Given the description of an element on the screen output the (x, y) to click on. 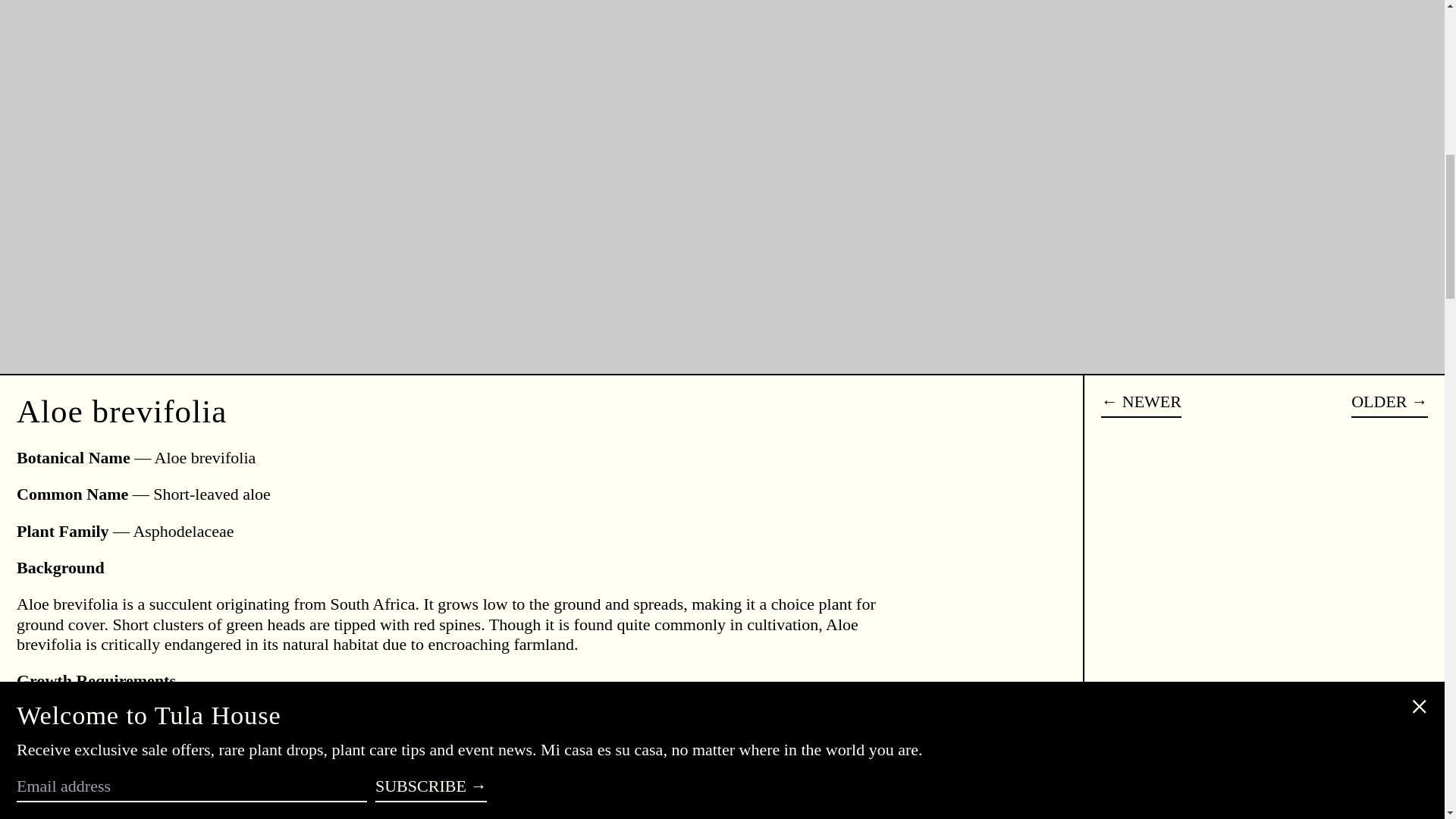
Newer (1140, 404)
Older (1389, 404)
